Given the description of an element on the screen output the (x, y) to click on. 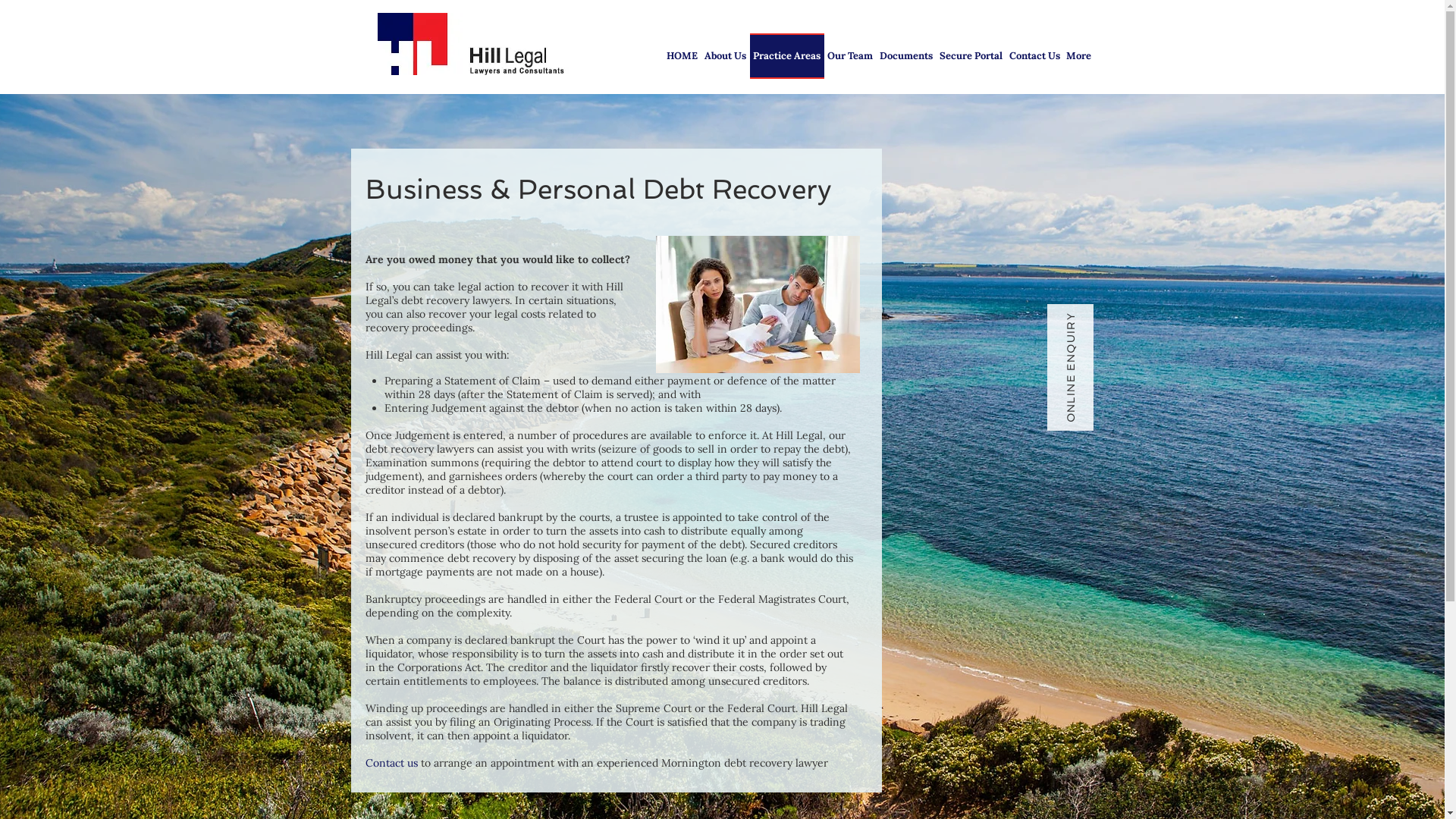
About Us Element type: text (724, 55)
Contact us Element type: text (391, 762)
ONLINE ENQUIRY Element type: text (1109, 327)
Documents Element type: text (906, 55)
Our Team Element type: text (849, 55)
HOME Element type: text (681, 55)
Practice Areas Element type: text (786, 55)
Secure Portal Element type: text (970, 55)
Contact Us Element type: text (1033, 55)
